Given the description of an element on the screen output the (x, y) to click on. 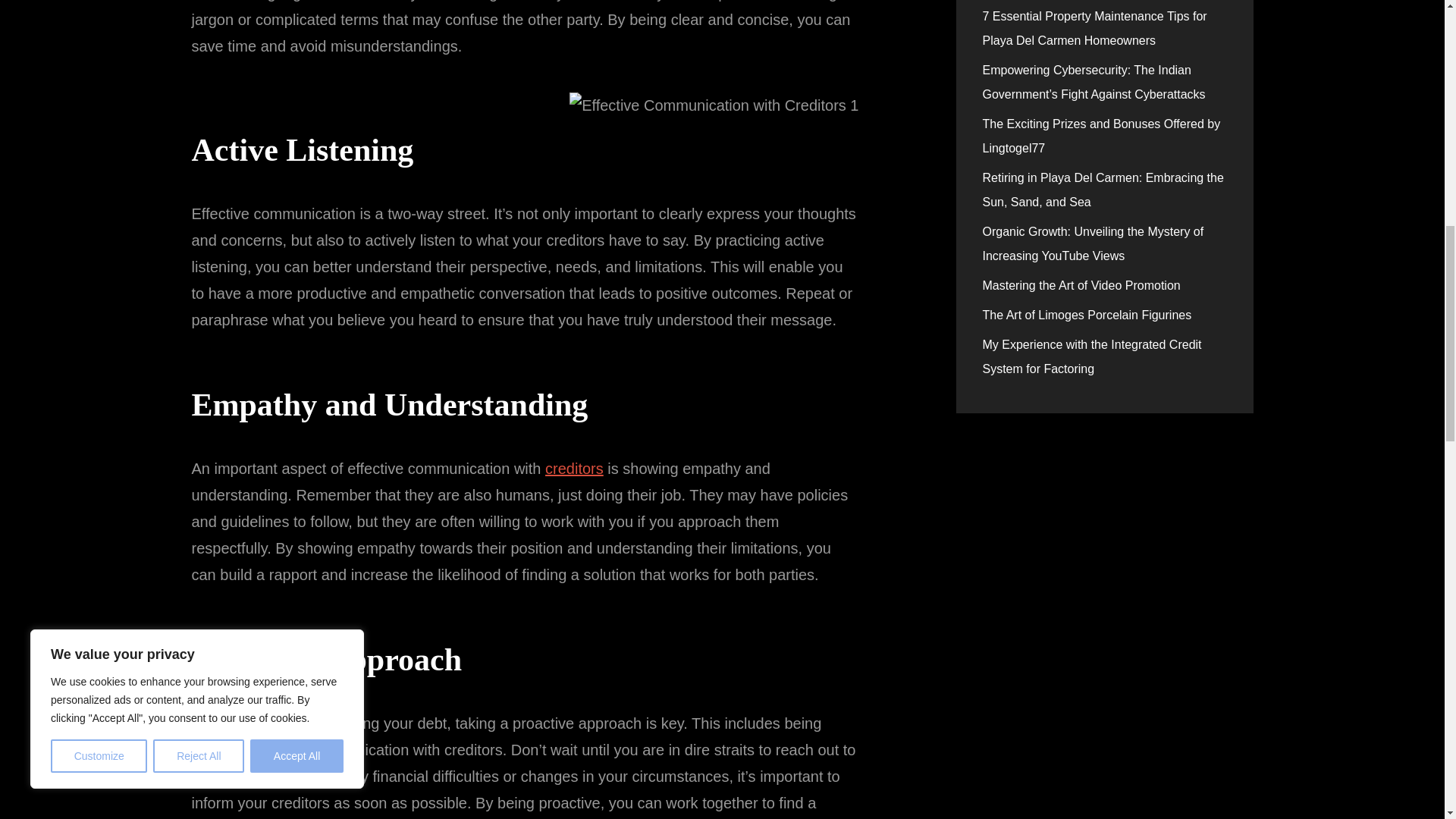
The Exciting Prizes and Bonuses Offered by Lingtogel77 (1101, 135)
creditors (574, 468)
